Given the description of an element on the screen output the (x, y) to click on. 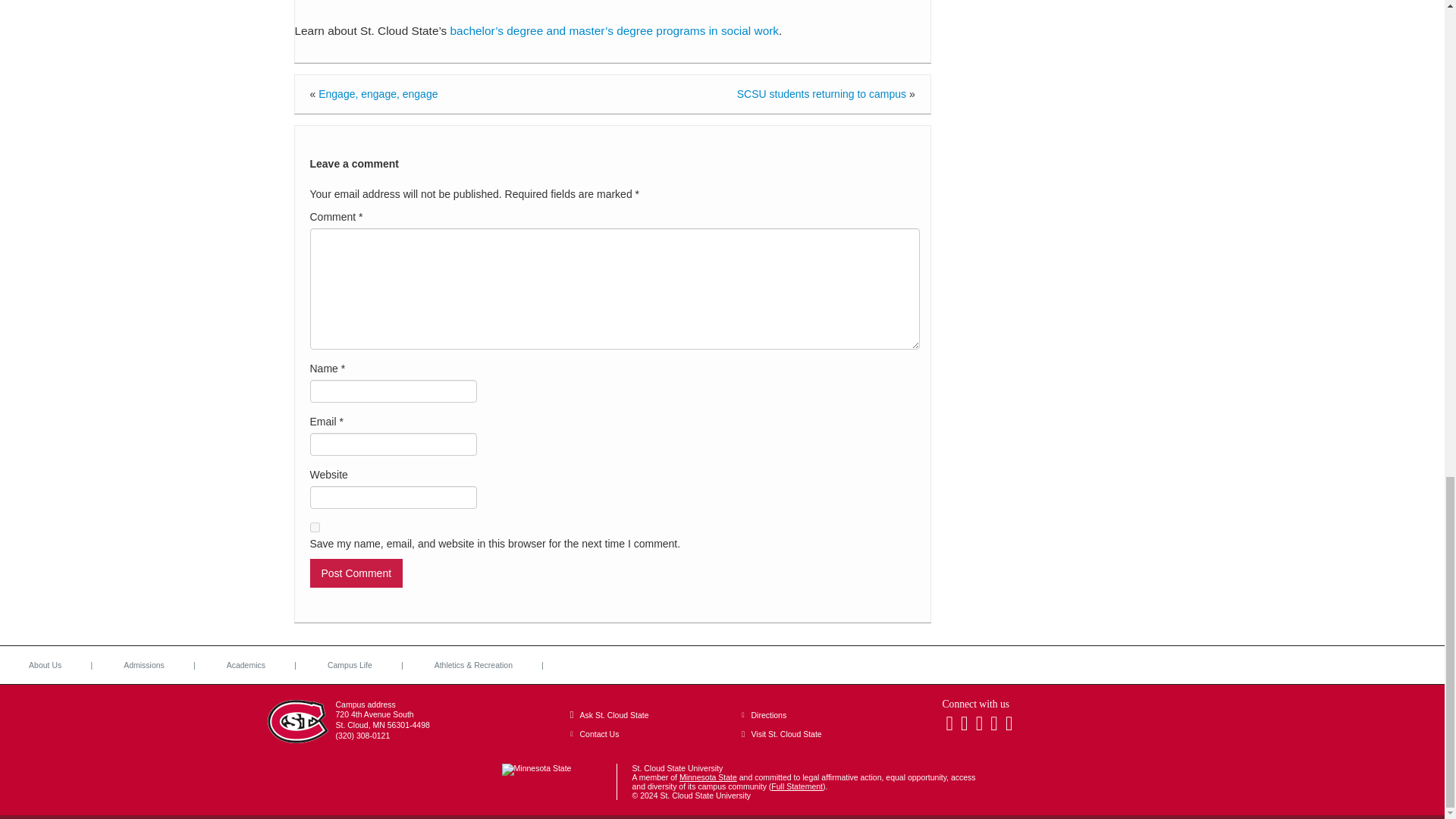
yes (313, 527)
Post Comment (355, 573)
Social Work website (613, 30)
